Given the description of an element on the screen output the (x, y) to click on. 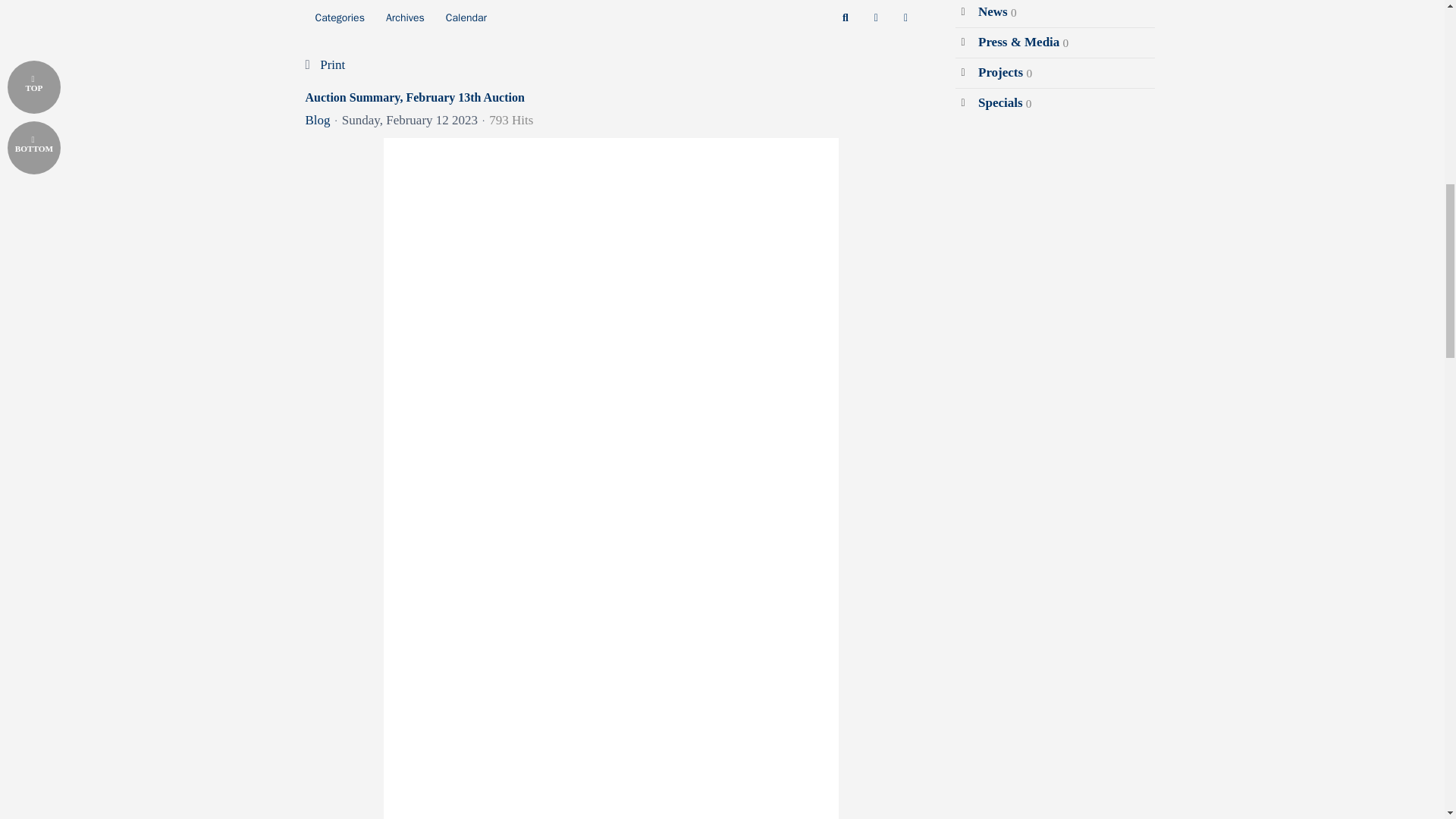
Categories (339, 18)
Print (332, 64)
Categories (339, 18)
Archives (404, 18)
Calendar (465, 18)
